Given the description of an element on the screen output the (x, y) to click on. 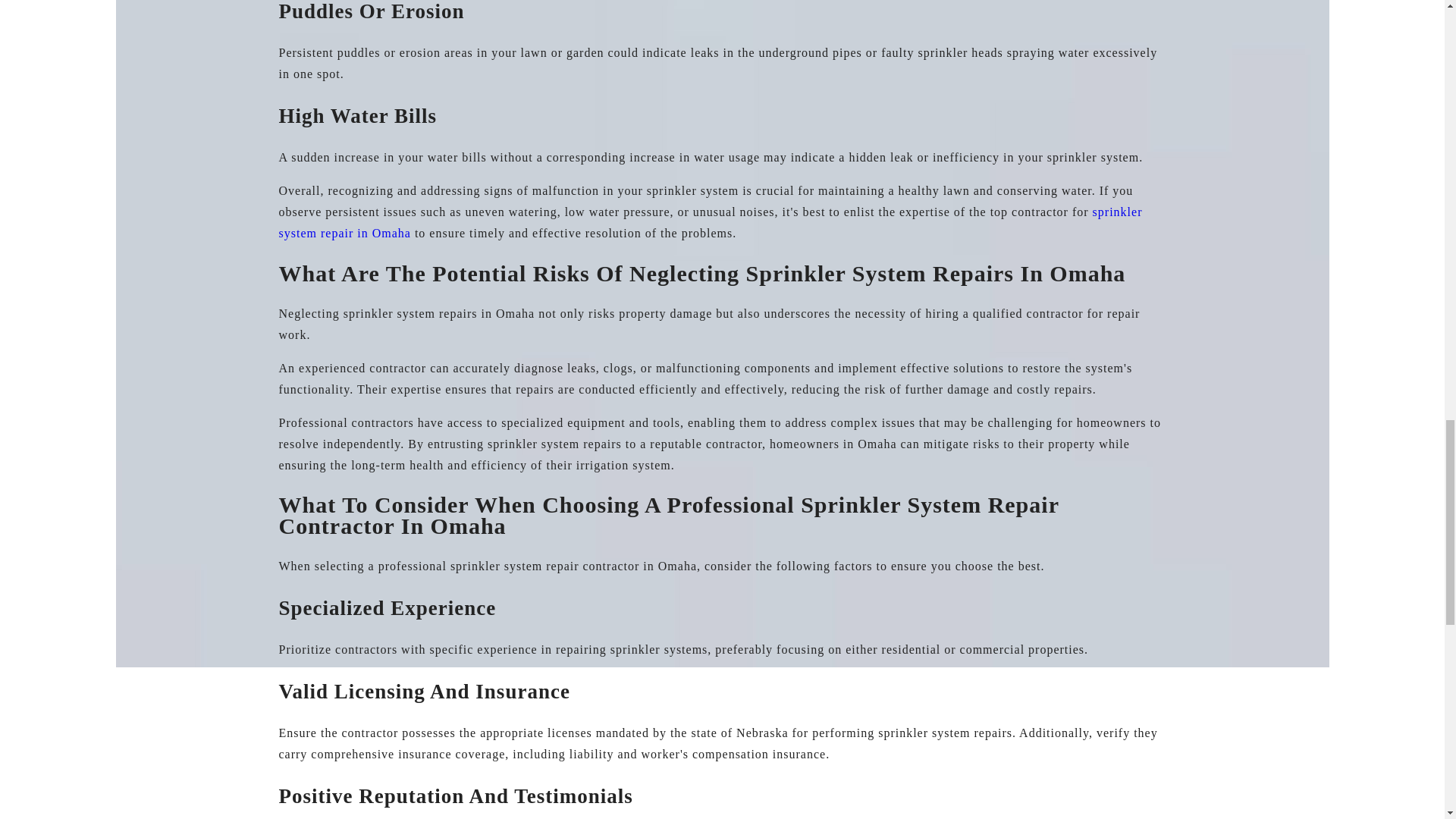
sprinkler system repair in Omaha (710, 222)
